Given the description of an element on the screen output the (x, y) to click on. 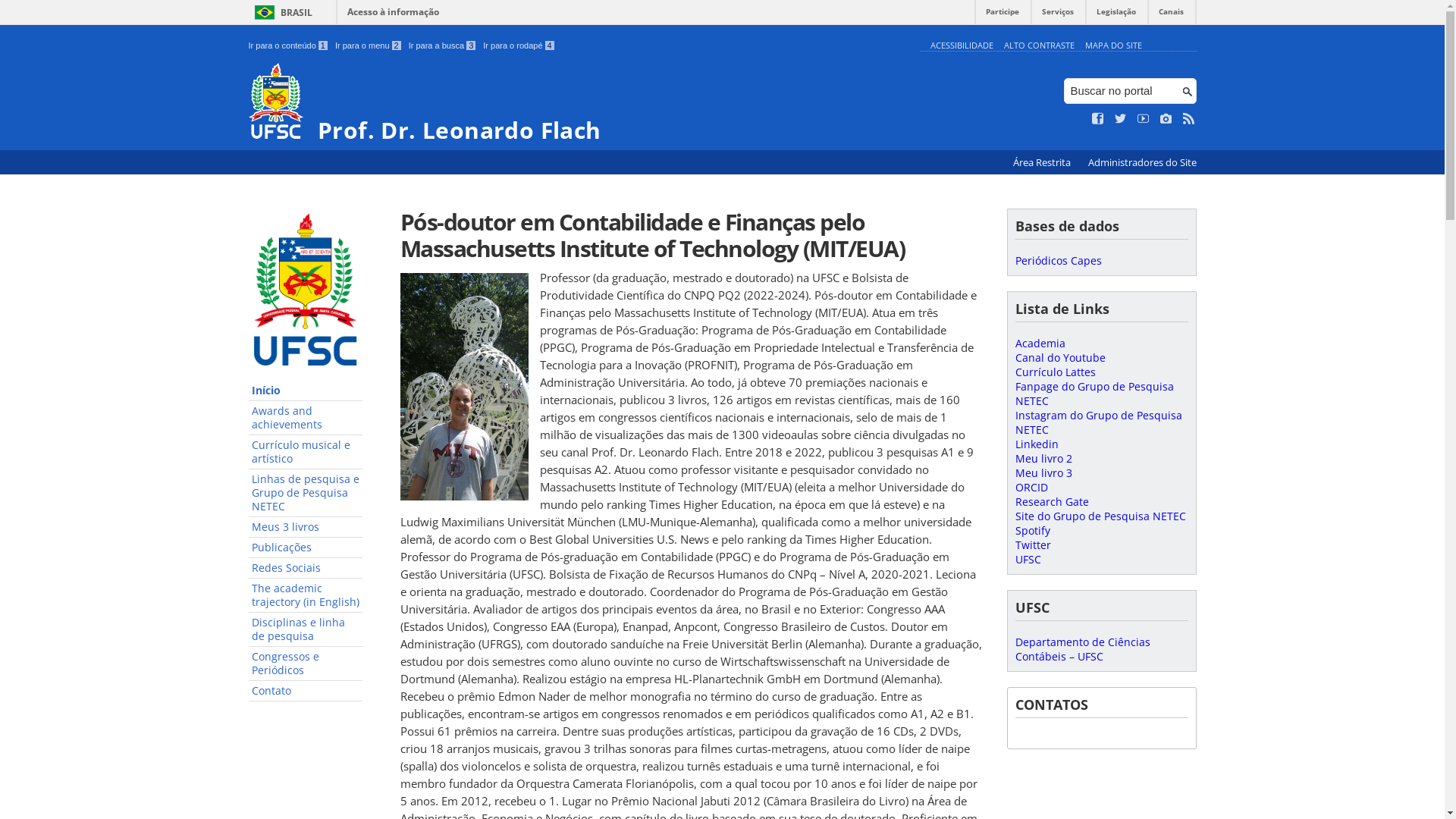
Disciplinas e linha de pesquisa Element type: text (305, 629)
Site do Grupo de Pesquisa NETEC Element type: text (1099, 515)
ALTO CONTRASTE Element type: text (1039, 44)
Awards and achievements Element type: text (305, 418)
Canais Element type: text (1171, 15)
Linkedin Element type: text (1035, 443)
BRASIL Element type: text (280, 12)
Curta no Facebook Element type: hover (1098, 118)
Veja no Instagram Element type: hover (1166, 118)
Meu livro 3 Element type: text (1042, 472)
Spotify Element type: text (1031, 530)
Contato Element type: text (305, 690)
MAPA DO SITE Element type: text (1112, 44)
Meus 3 livros Element type: text (305, 527)
Linhas de pesquisa e Grupo de Pesquisa NETEC Element type: text (305, 493)
Research Gate Element type: text (1051, 501)
ACESSIBILIDADE Element type: text (960, 44)
Administradores do Site Element type: text (1141, 162)
ORCID Element type: text (1030, 487)
Ir para o menu 2 Element type: text (368, 45)
Redes Sociais Element type: text (305, 568)
Fanpage do Grupo de Pesquisa NETEC Element type: text (1093, 393)
Participe Element type: text (1002, 15)
UFSC Element type: text (1027, 559)
Canal do Youtube Element type: text (1059, 357)
Academia Element type: text (1039, 342)
Siga no Twitter Element type: hover (1120, 118)
Instagram do Grupo de Pesquisa NETEC Element type: text (1097, 421)
Prof. Dr. Leonardo Flach Element type: text (580, 102)
Meu livro 2 Element type: text (1042, 458)
Twitter Element type: text (1032, 544)
The academic trajectory (in English) Element type: text (305, 595)
Ir para a busca 3 Element type: text (442, 45)
